Given the description of an element on the screen output the (x, y) to click on. 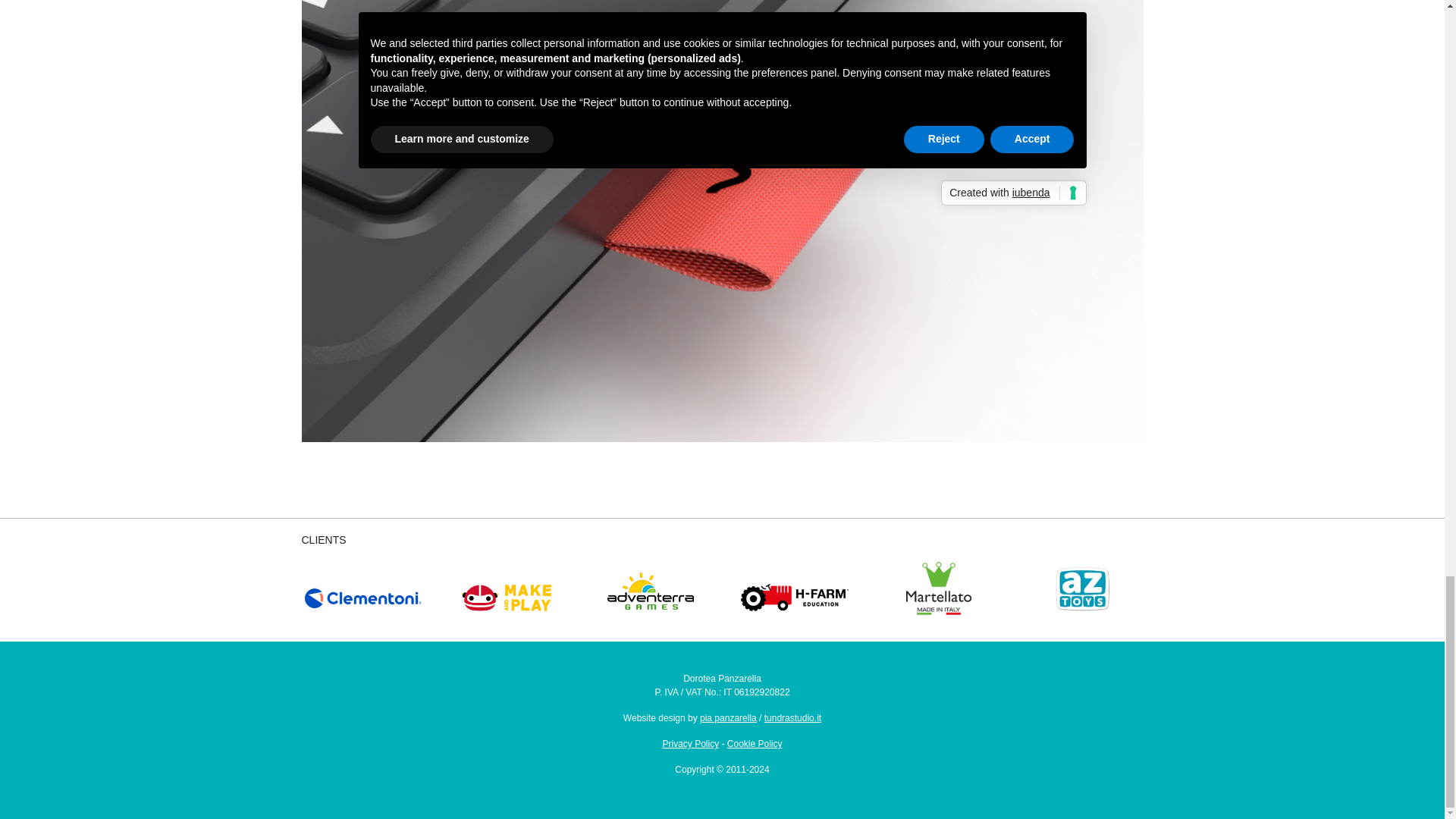
Link to Client H-FARM education (794, 585)
Link to Designer WebSite (792, 717)
Privacy Policy (690, 743)
Link to Client Make and Play (506, 585)
Link to Client AZ Toys (1082, 585)
tundrastudio.it (792, 717)
Cookie Policy (754, 743)
Cookie Policy  (754, 743)
Link to Client Martellato (937, 585)
Link to Designer Portfolio (728, 717)
Link to Client Adventerra Games (650, 585)
pia panzarella (728, 717)
Privacy Policy  (690, 743)
Link to Client Clementoni (362, 585)
